Given the description of an element on the screen output the (x, y) to click on. 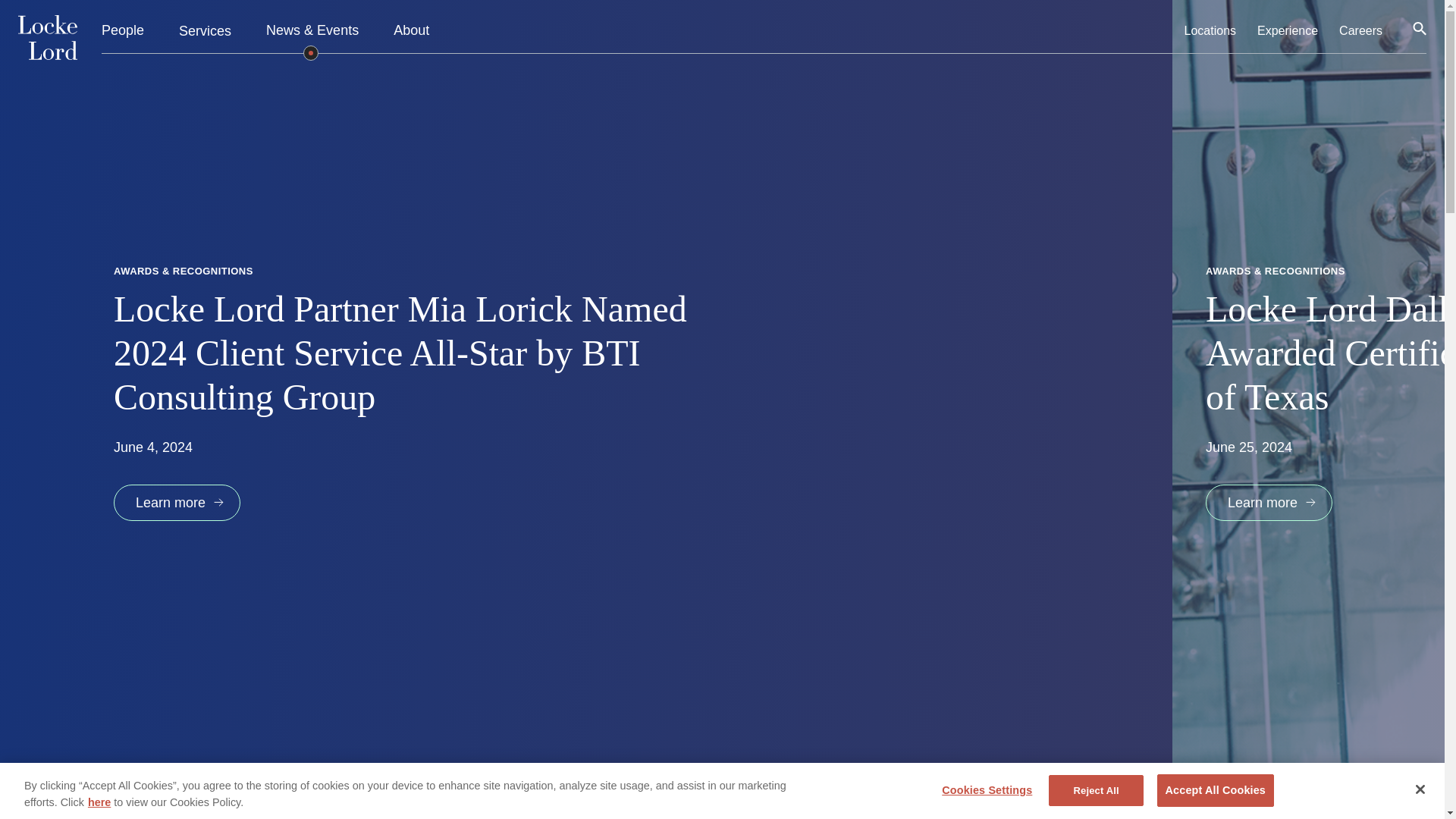
People (122, 30)
Services (205, 31)
